Given the description of an element on the screen output the (x, y) to click on. 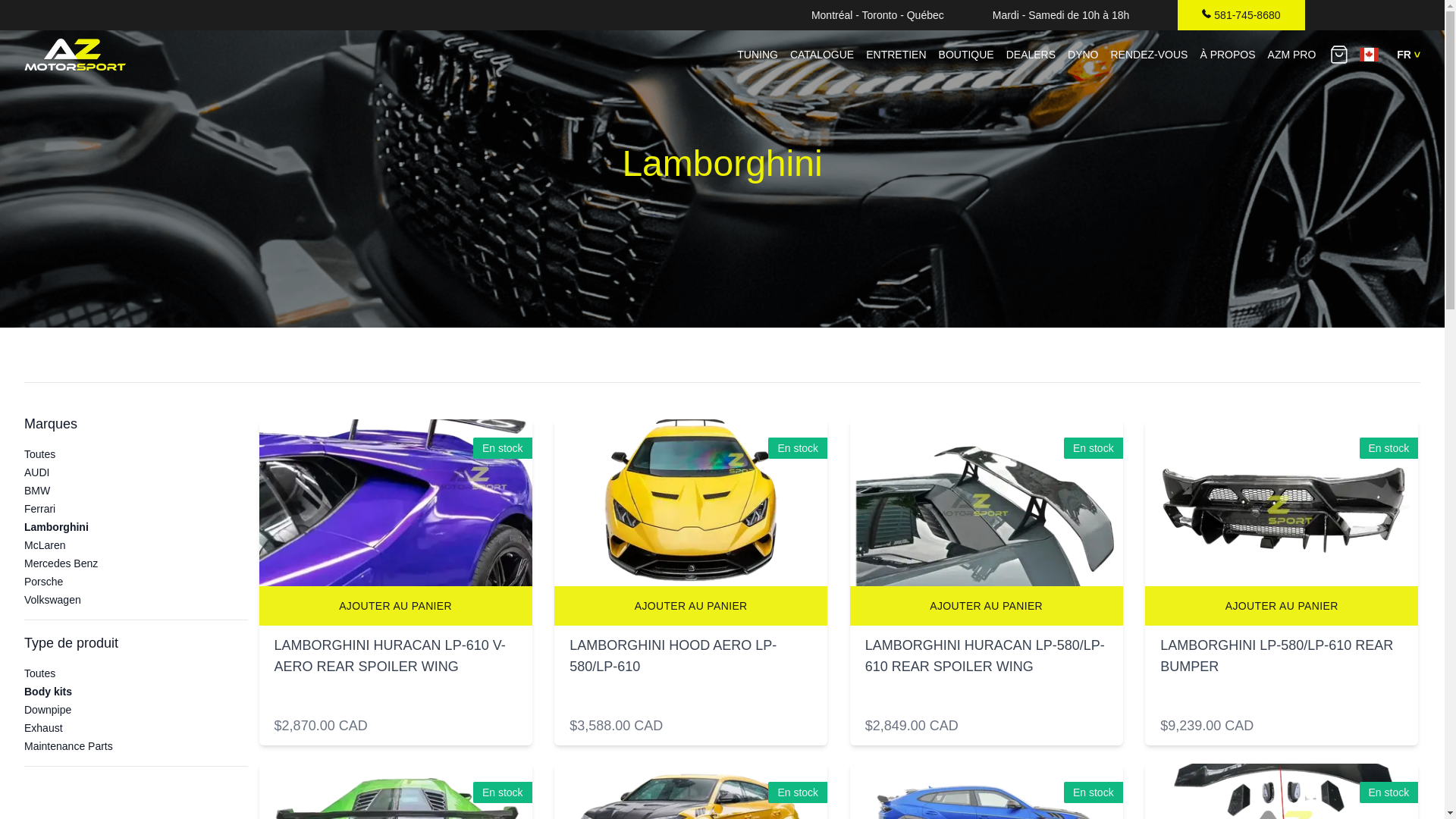
AZM PRO (1289, 54)
AJOUTER AU PANIER (395, 605)
AJOUTER AU PANIER (1281, 605)
AJOUTER AU PANIER (690, 605)
BOUTIQUE (966, 54)
DEALERS (1030, 54)
ENTRETIEN (895, 54)
CATALOGUE (822, 54)
RENDEZ-VOUS (1148, 54)
581-745-8680 (1240, 14)
